Given the description of an element on the screen output the (x, y) to click on. 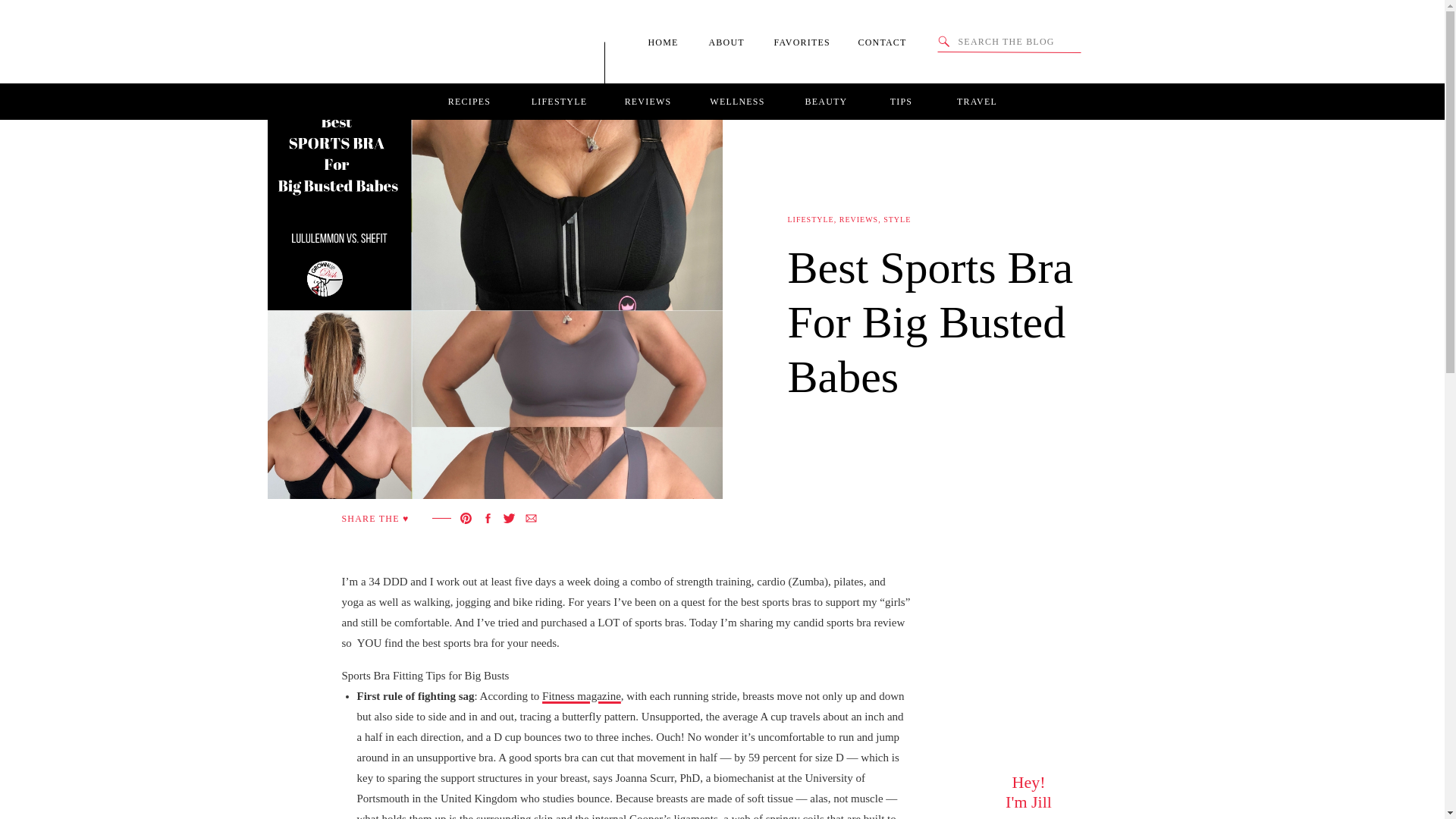
REVIEWS (648, 101)
WELLNESS (736, 101)
LIFESTYLE (558, 101)
HOME (668, 42)
Fitness magazine (581, 695)
CONTACT (888, 42)
ABOUT (731, 42)
TRAVEL (977, 101)
FAVORITES (806, 42)
LIFESTYLE (809, 219)
